Given the description of an element on the screen output the (x, y) to click on. 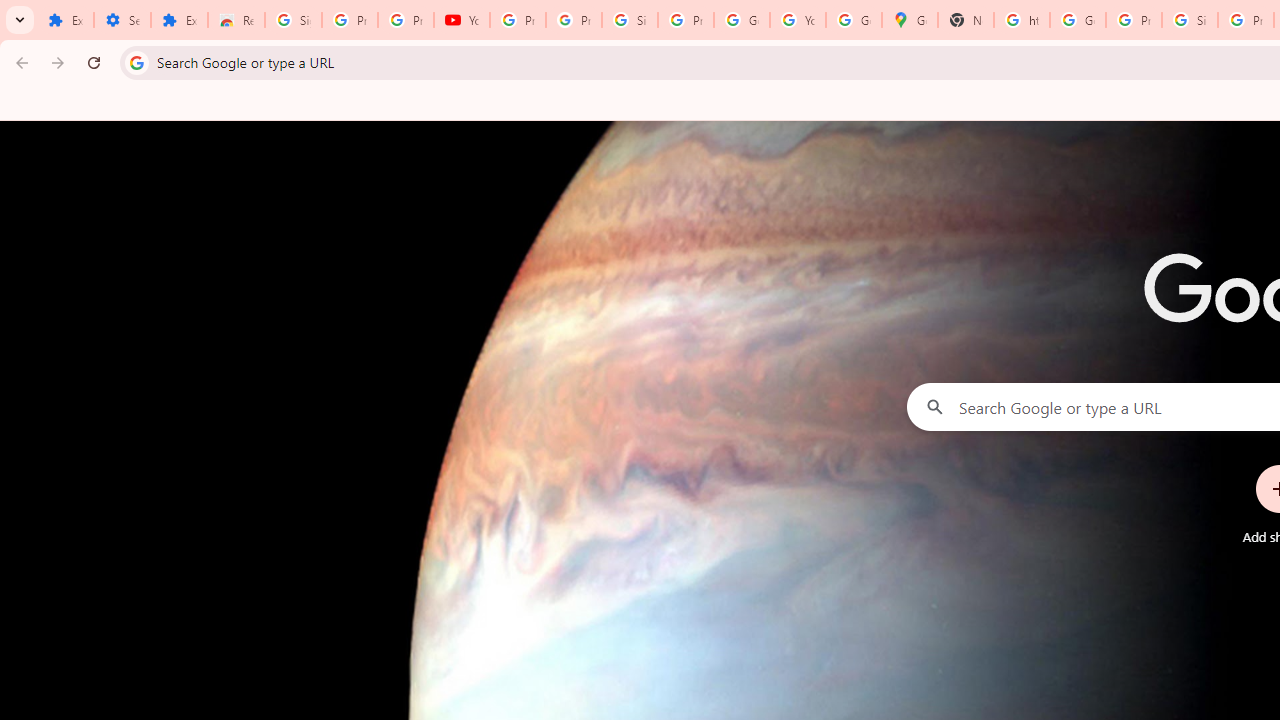
Sign in - Google Accounts (629, 20)
Google Account (742, 20)
Sign in - Google Accounts (293, 20)
https://scholar.google.com/ (1021, 20)
Google Maps (909, 20)
